Given the description of an element on the screen output the (x, y) to click on. 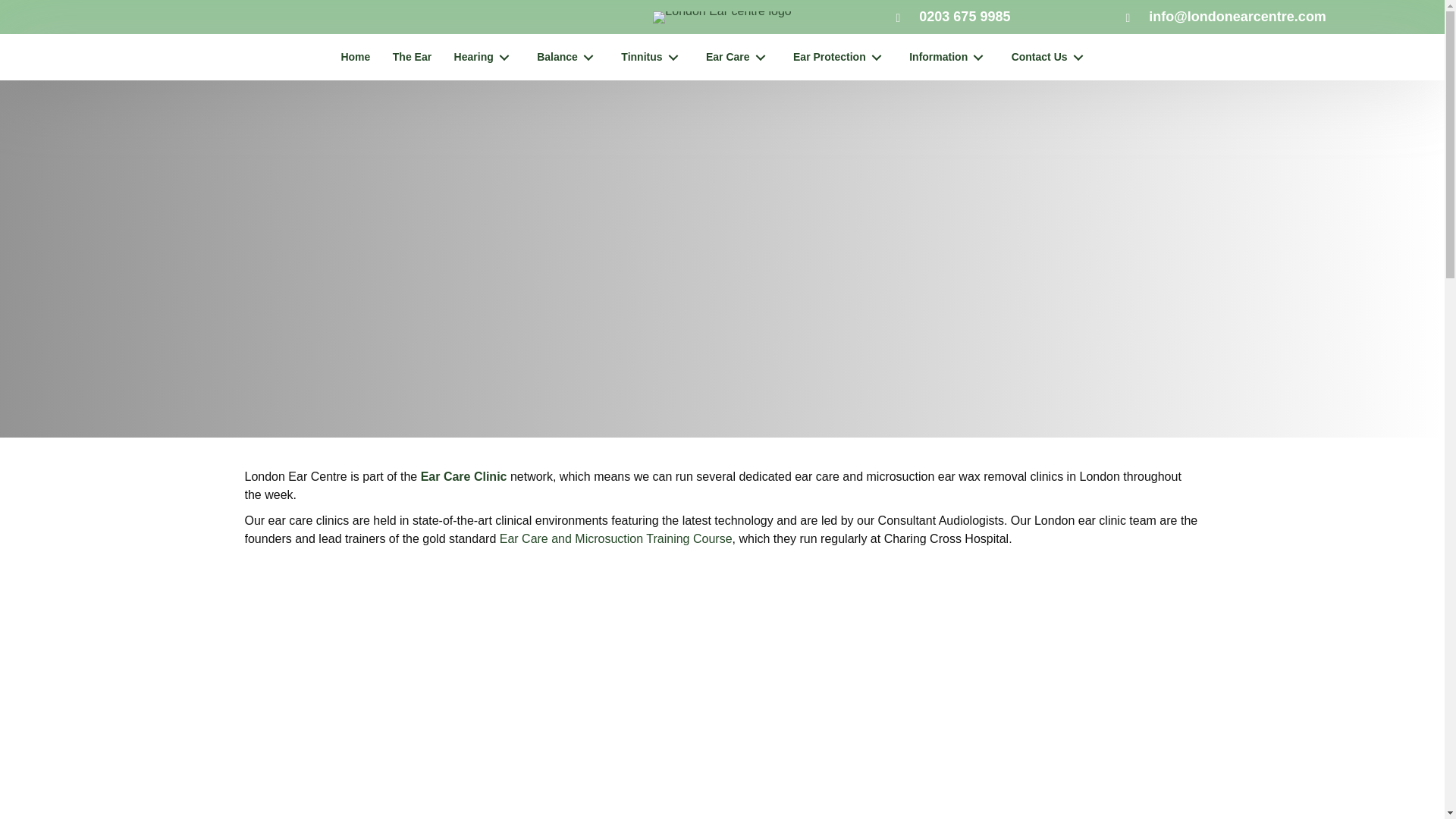
logo (721, 17)
0203 675 9985 (964, 16)
